Given the description of an element on the screen output the (x, y) to click on. 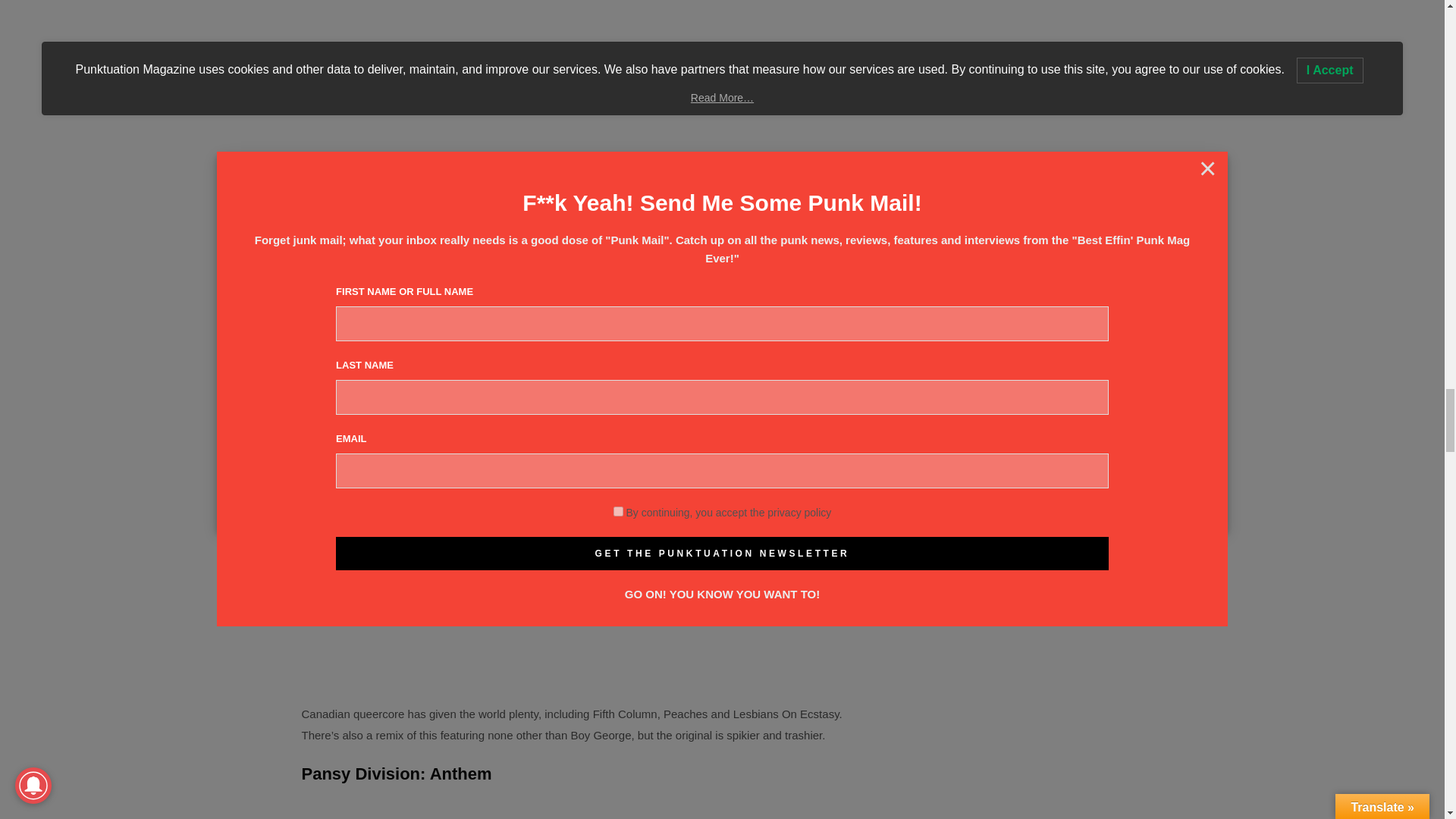
Pansy Division - Anthem (578, 806)
